Given the description of an element on the screen output the (x, y) to click on. 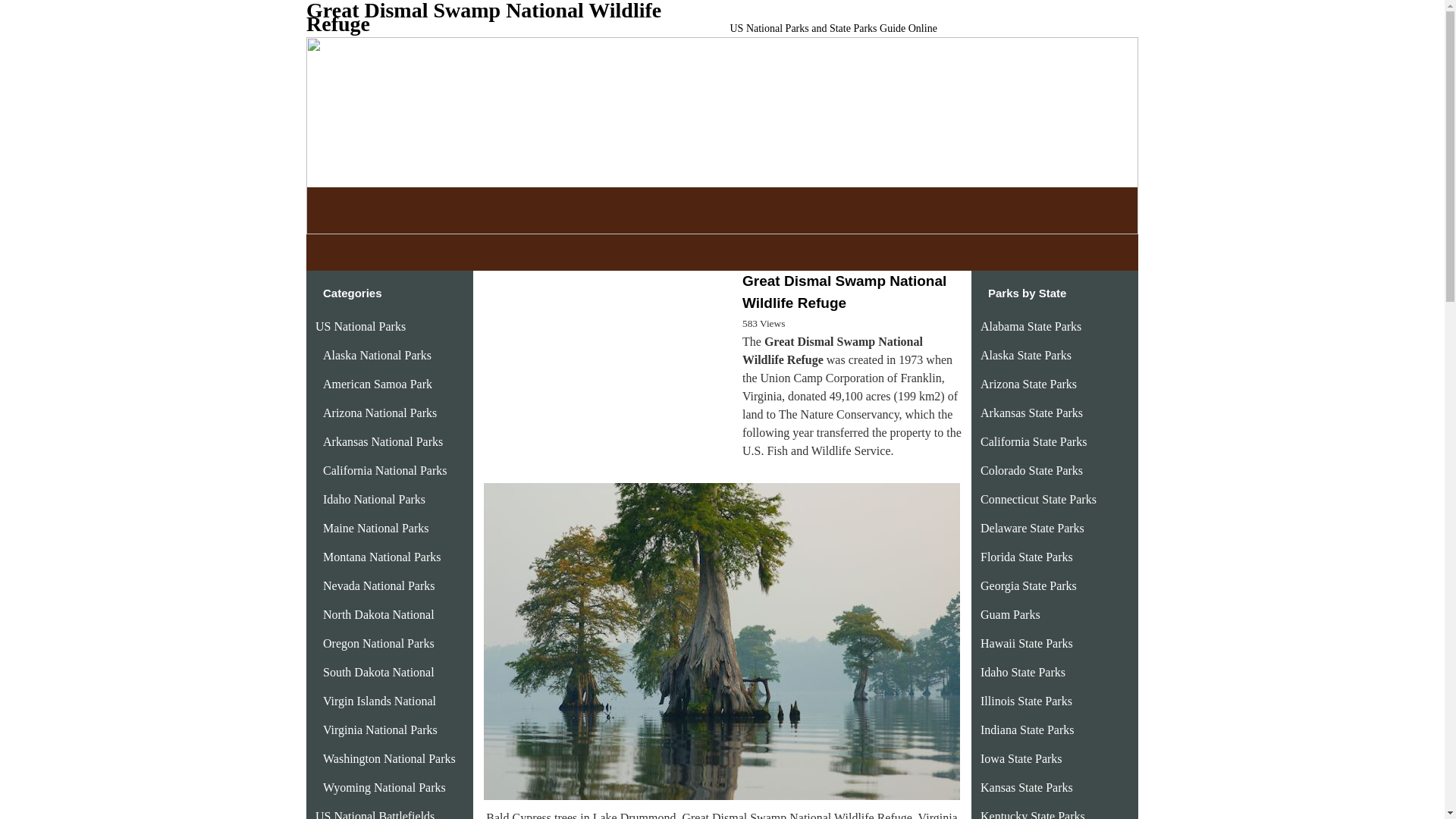
South Dakota National (378, 671)
Wyoming National Parks (384, 787)
Oregon National Parks (378, 643)
Nevada National Parks (379, 585)
American Samoa Park (377, 383)
US National Parks (360, 326)
US National Battlefields (374, 814)
Virgin Islands National (379, 700)
Washington National Parks (389, 758)
Colorado State Parks (1031, 470)
Virginia National Parks (380, 729)
Alabama State Parks (1030, 326)
Arkansas National Parks (382, 440)
California State Parks (1032, 440)
Alaska National Parks (376, 354)
